Given the description of an element on the screen output the (x, y) to click on. 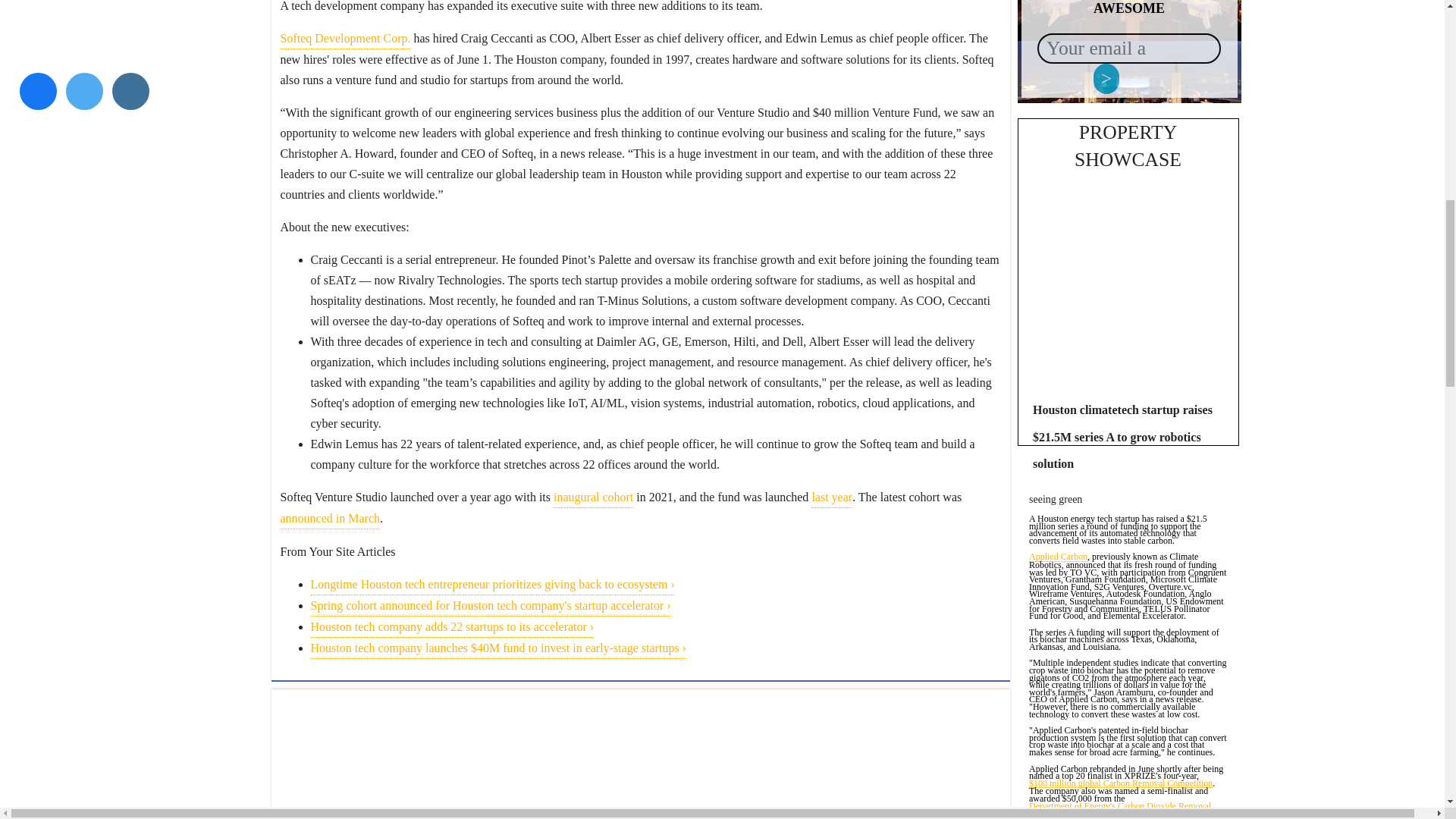
Softeq Development Corp. (345, 38)
announced in March (330, 518)
inaugural cohort (593, 496)
last year (830, 496)
